Given the description of an element on the screen output the (x, y) to click on. 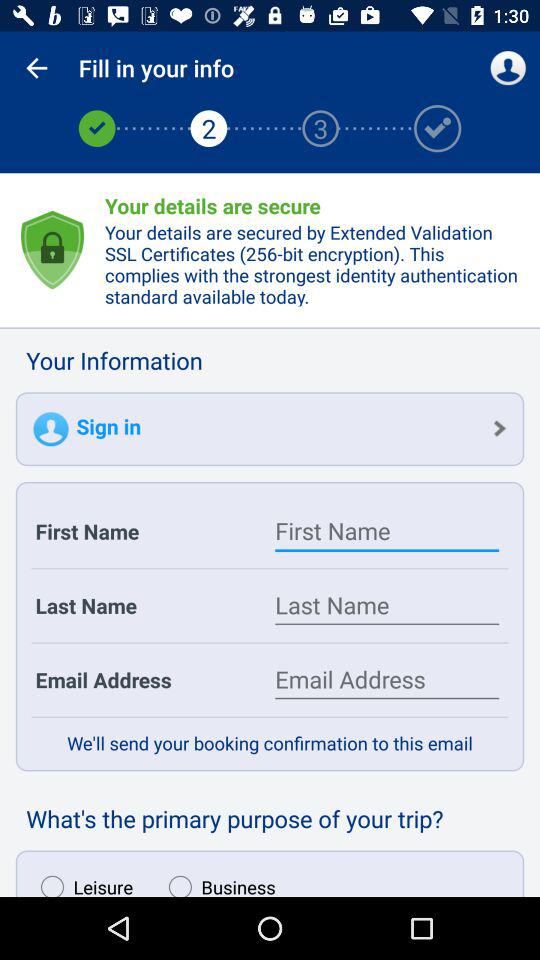
select email address (387, 679)
